Given the description of an element on the screen output the (x, y) to click on. 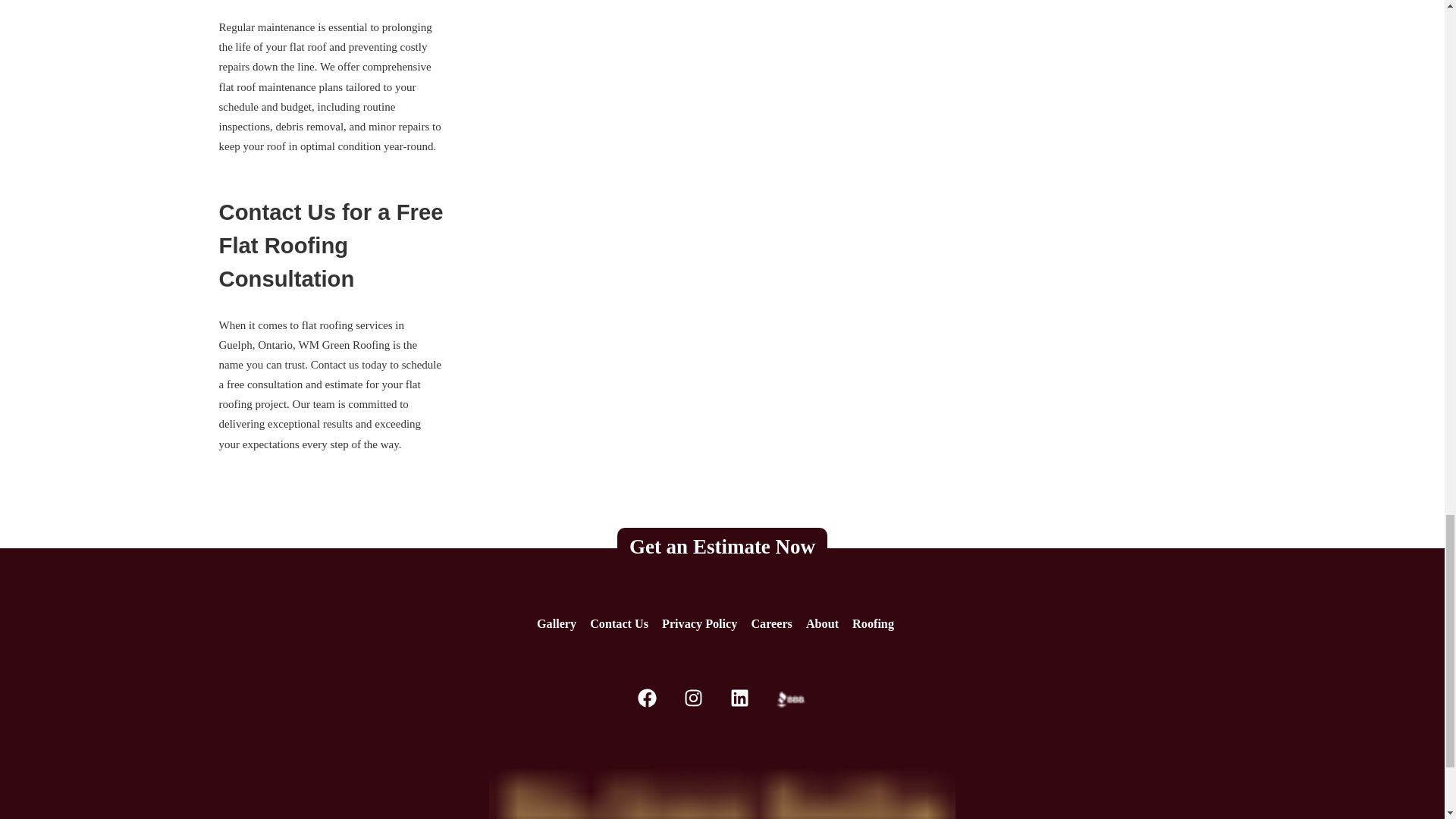
Instagram (693, 703)
Better Business Bureau (791, 699)
Facebook (646, 703)
Get an Estimate Now (721, 546)
Privacy Policy (699, 623)
About (822, 623)
LinkedIn (739, 703)
Gallery (556, 623)
Careers (771, 623)
Contact Us (618, 623)
